Given the description of an element on the screen output the (x, y) to click on. 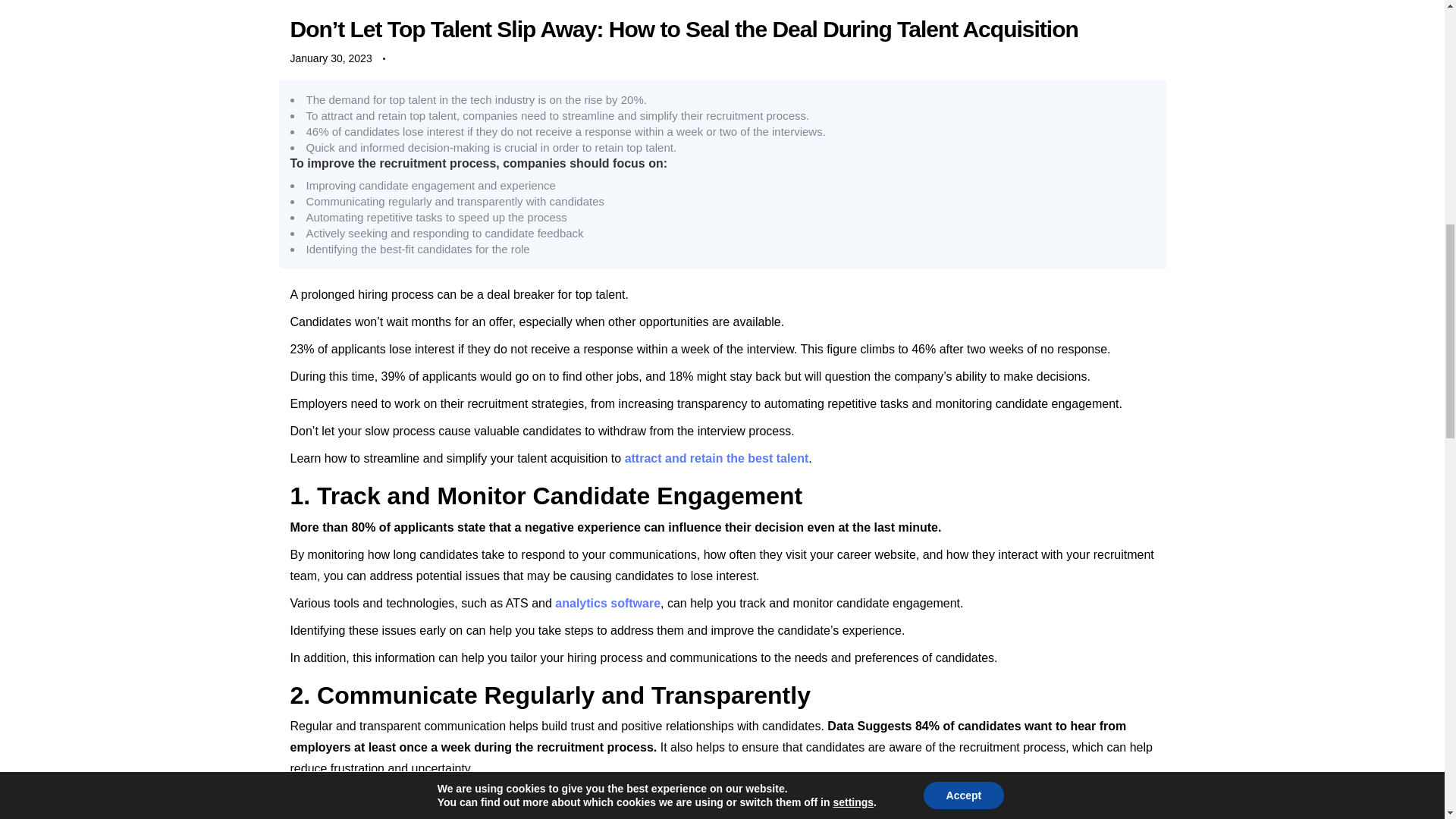
January 30, 2023 (330, 58)
analytics software (607, 603)
attract and retain the best talent (716, 458)
